Given the description of an element on the screen output the (x, y) to click on. 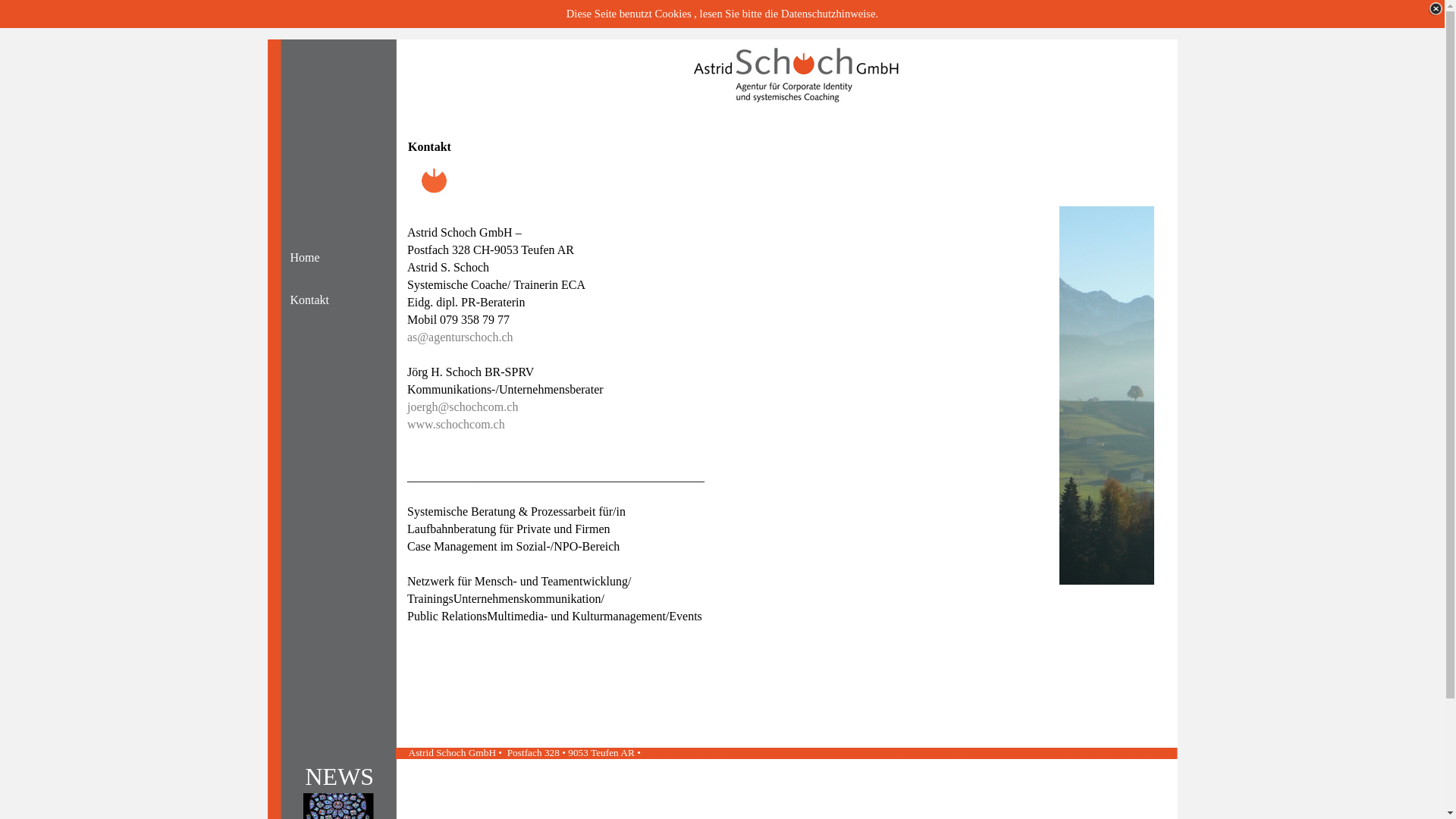
as@agenturschoch.ch Element type: text (460, 336)
joergh@schochcom.ch Element type: text (462, 406)
www.schochcom.ch Element type: text (456, 423)
Home Element type: text (327, 257)
Kontakt Element type: text (327, 299)
